Given the description of an element on the screen output the (x, y) to click on. 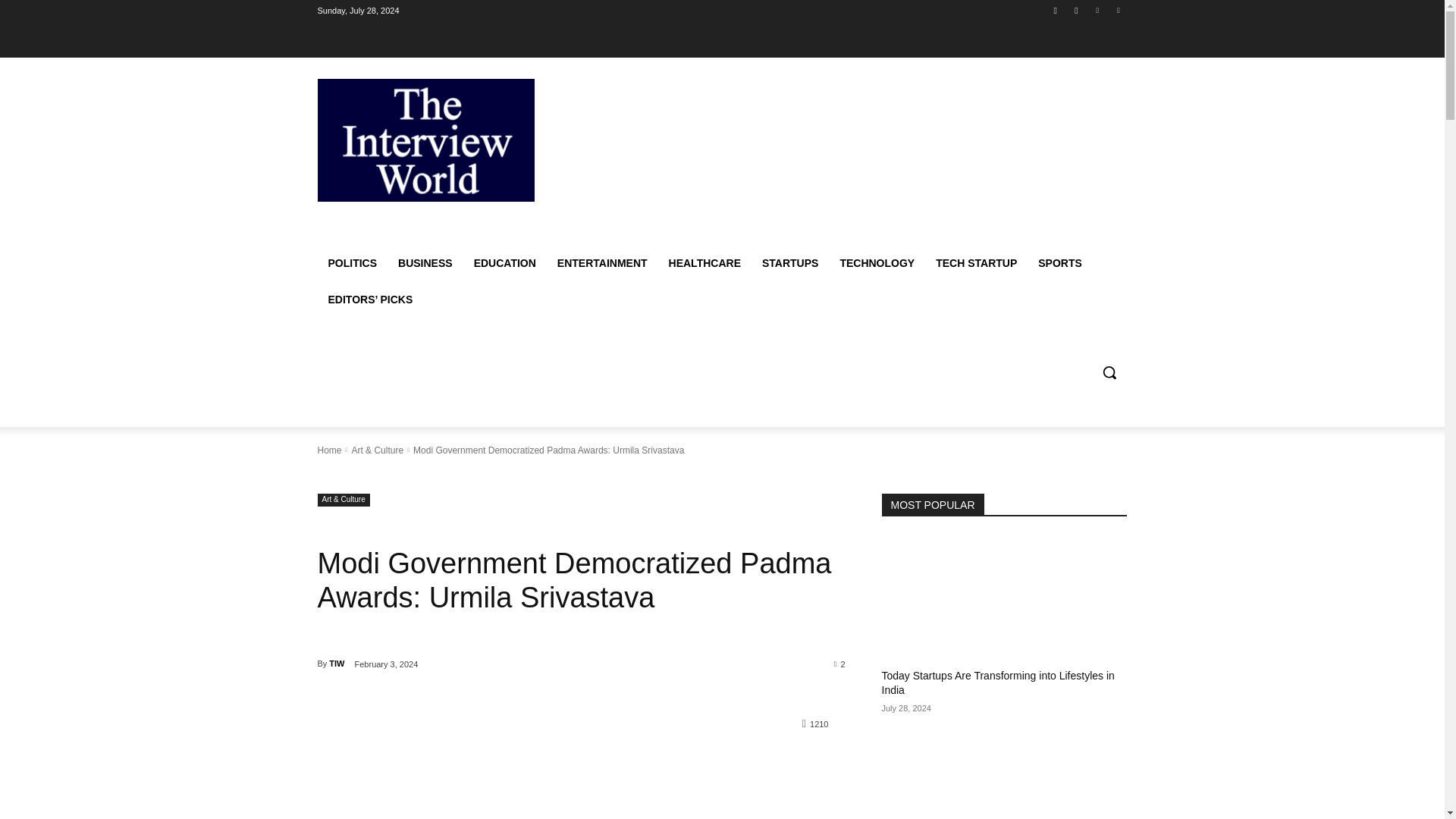
Home (328, 450)
Instagram (1075, 9)
TIW (336, 662)
TECH STARTUP (975, 262)
TECHNOLOGY (876, 262)
Twitter (1117, 9)
2 (839, 663)
BUSINESS (425, 262)
EDUCATION (505, 262)
HEALTHCARE (704, 262)
STARTUPS (789, 262)
Facebook (1055, 9)
POLITICS (352, 262)
SPORTS (1060, 262)
ENTERTAINMENT (602, 262)
